Given the description of an element on the screen output the (x, y) to click on. 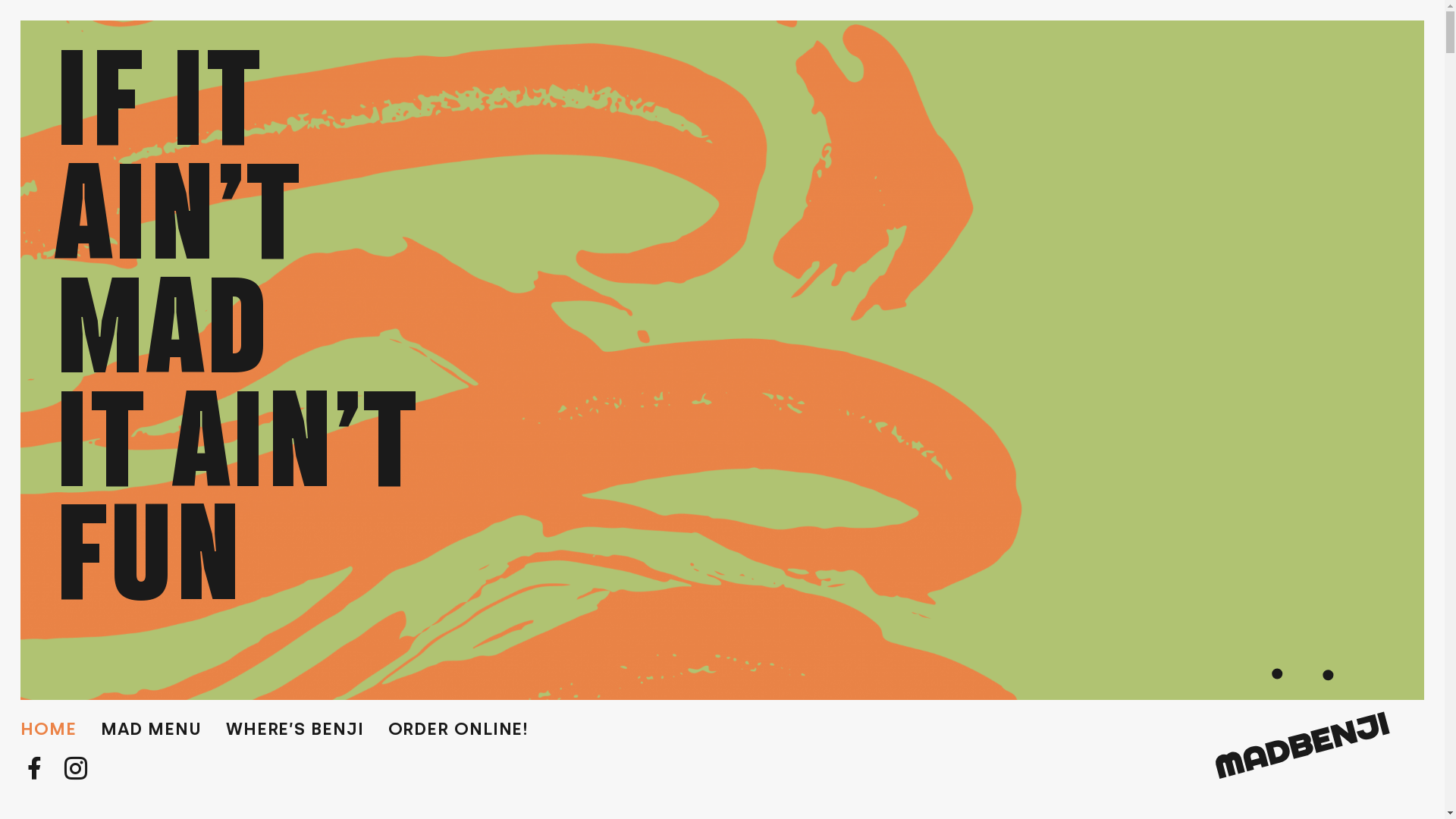
HOME Element type: text (48, 729)
MAD MENU Element type: text (150, 729)
ORDER ONLINE! Element type: text (458, 729)
